Given the description of an element on the screen output the (x, y) to click on. 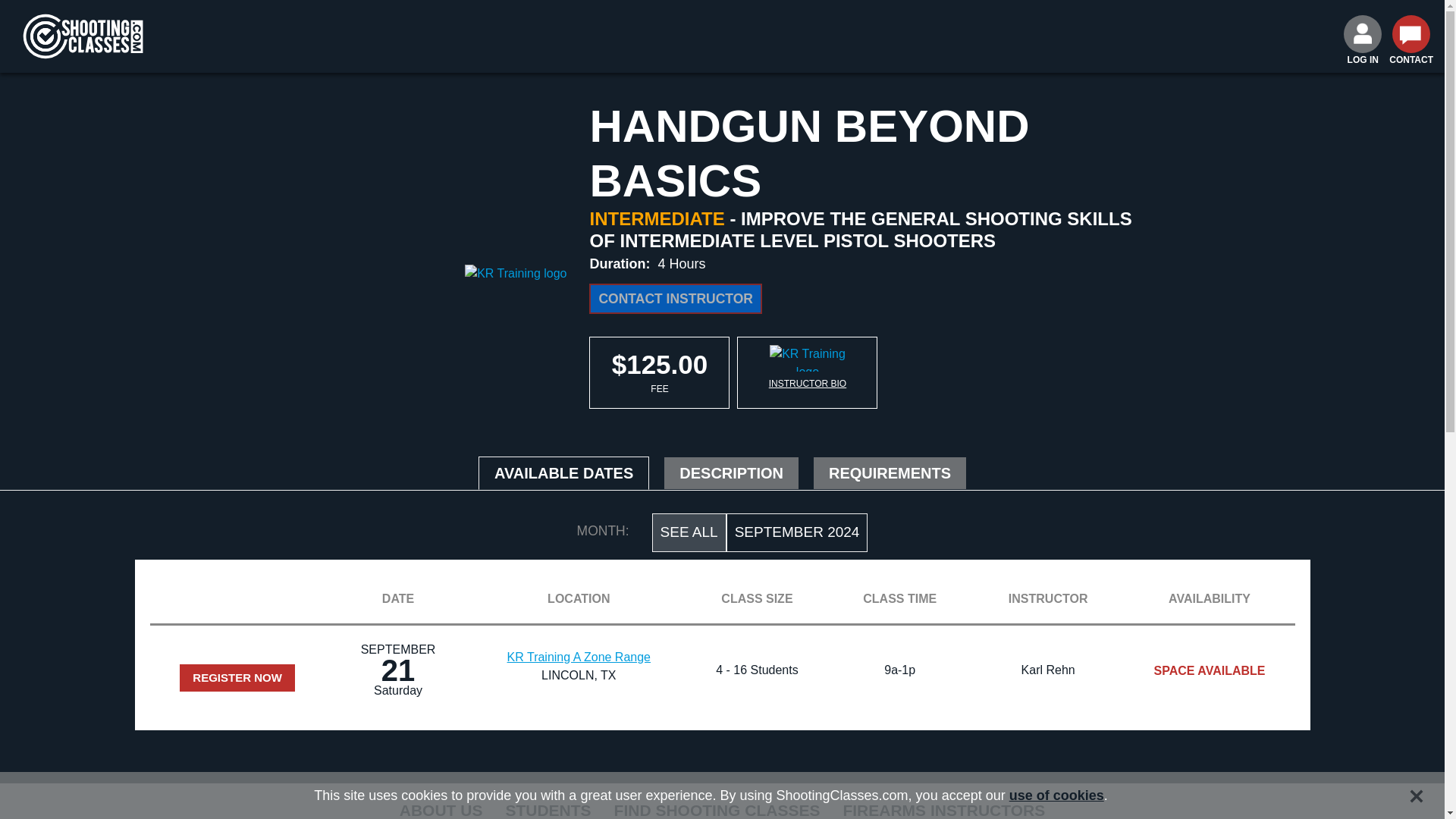
ABOUT US (441, 808)
FIND SHOOTING CLASSES (716, 808)
KR Training A Zone Range (578, 656)
CONTACT INSTRUCTOR (675, 298)
SEE ALL (689, 532)
INSTRUCTOR BIO (806, 383)
REGISTER NOW (237, 678)
AVAILABLE DATES (564, 472)
STUDENTS (547, 808)
FIREARMS INSTRUCTORS (944, 808)
DESCRIPTION (730, 472)
REQUIREMENTS (889, 472)
SEPTEMBER 2024 (796, 532)
